Given the description of an element on the screen output the (x, y) to click on. 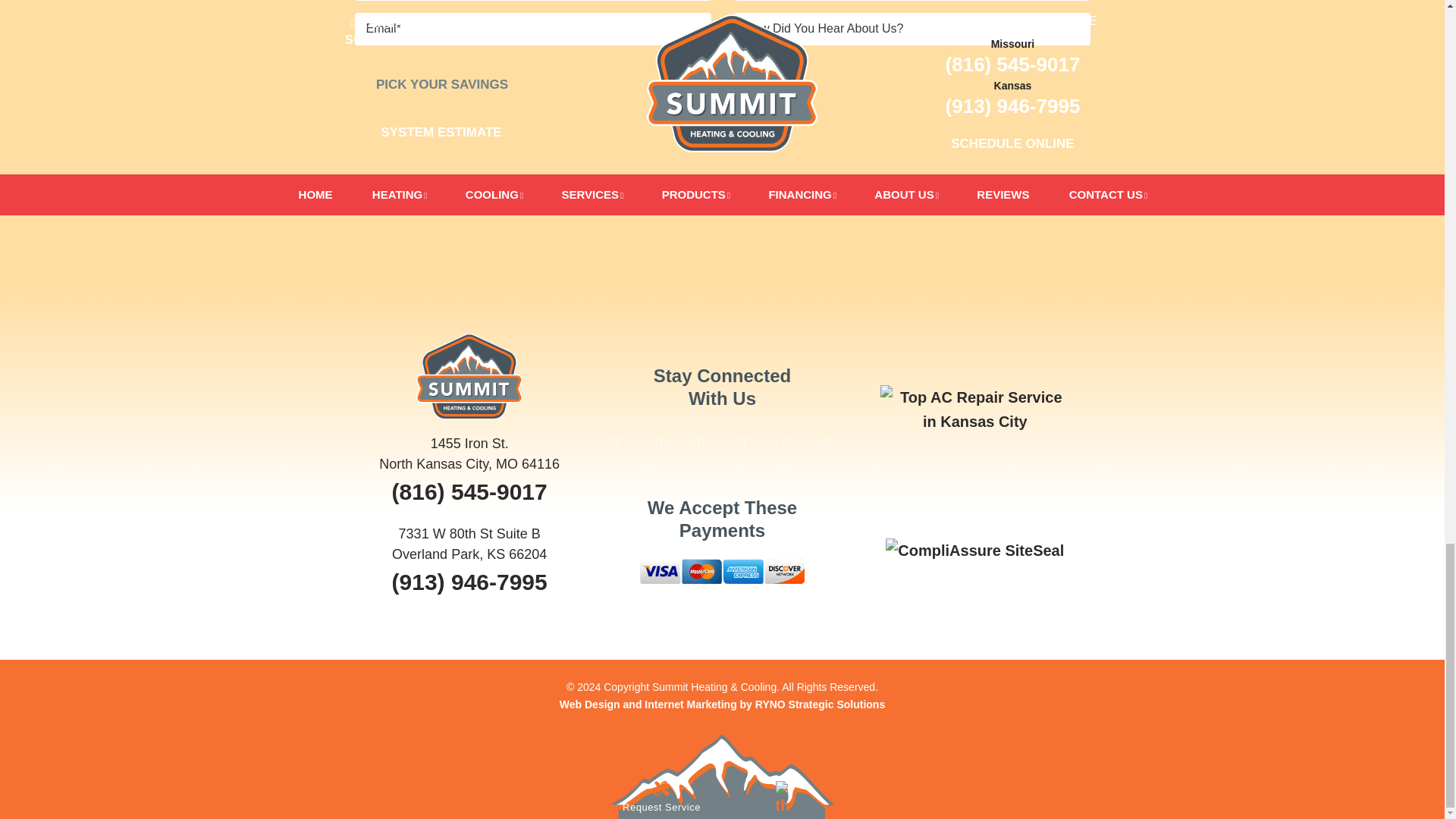
Submit (722, 107)
